Given the description of an element on the screen output the (x, y) to click on. 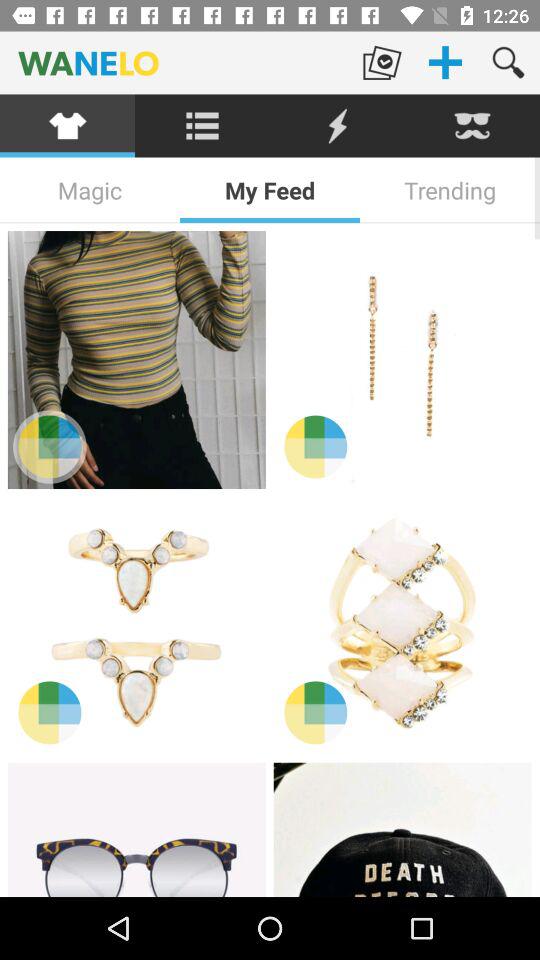
clickable picture of style (136, 360)
